Given the description of an element on the screen output the (x, y) to click on. 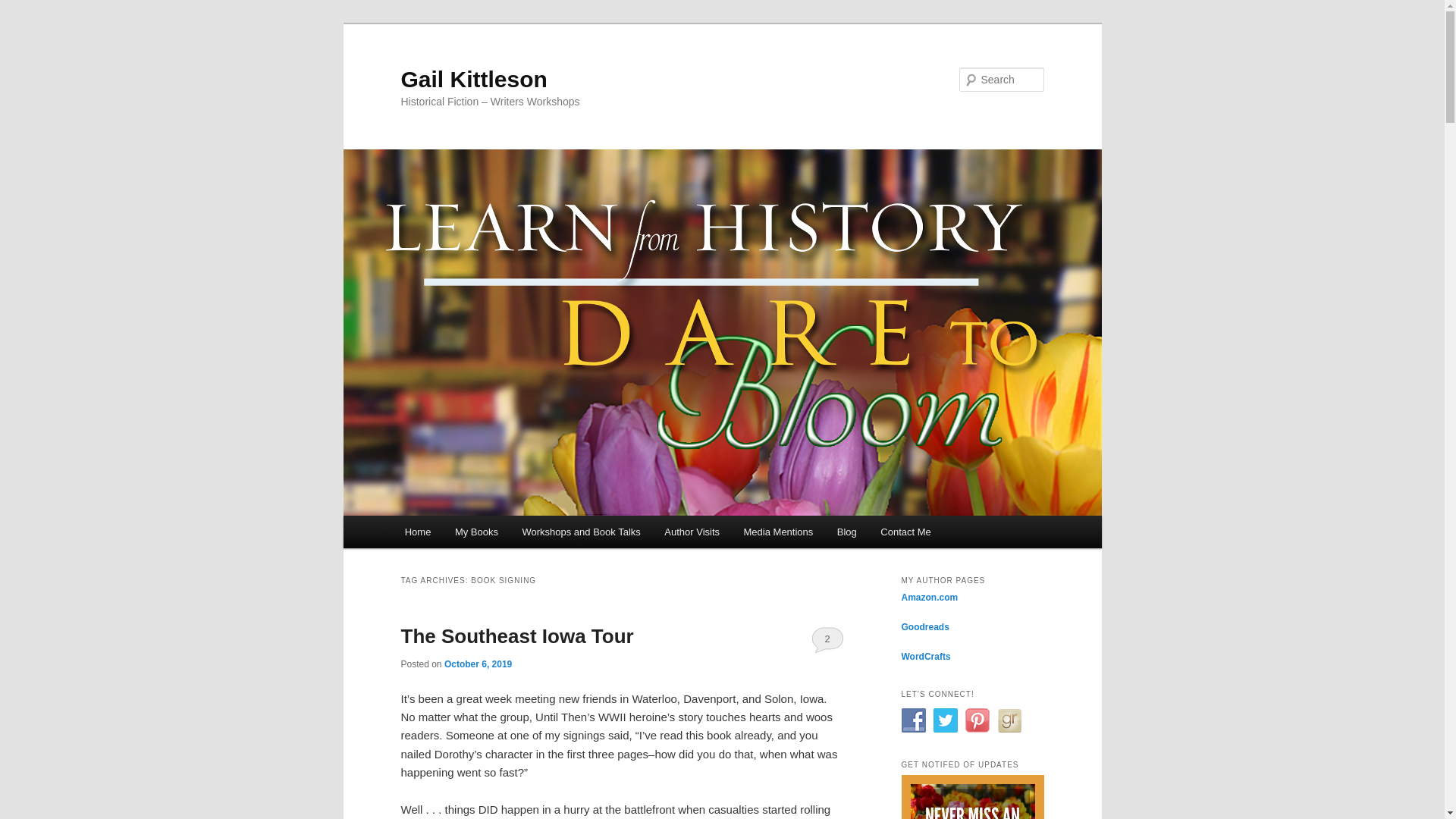
Gail Kittleson (473, 78)
Follow Us on Twitter (944, 720)
October 6, 2019 (478, 664)
Author Visits (692, 531)
Blog (847, 531)
Follow Us on Facebook (912, 720)
2 (827, 638)
Amazon.com (929, 597)
Contact Me (906, 531)
My Books (476, 531)
